Given the description of an element on the screen output the (x, y) to click on. 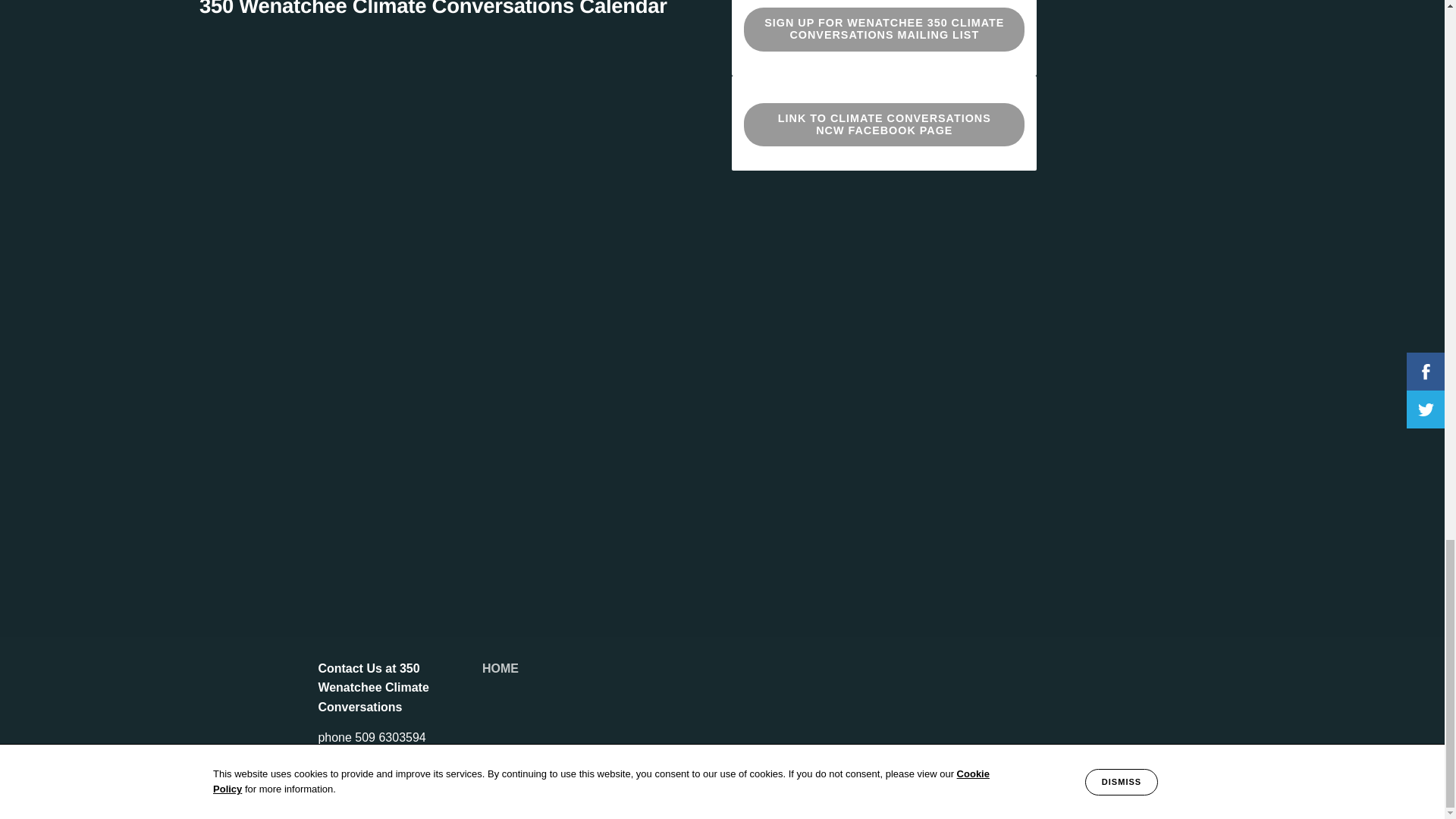
SIGN UP FOR WENATCHEE 350 CLIMATE CONVERSATIONS MAILING LIST (884, 29)
HOME (499, 667)
LINK TO CLIMATE CONVERSATIONS NCW FACEBOOK PAGE (884, 125)
